Given the description of an element on the screen output the (x, y) to click on. 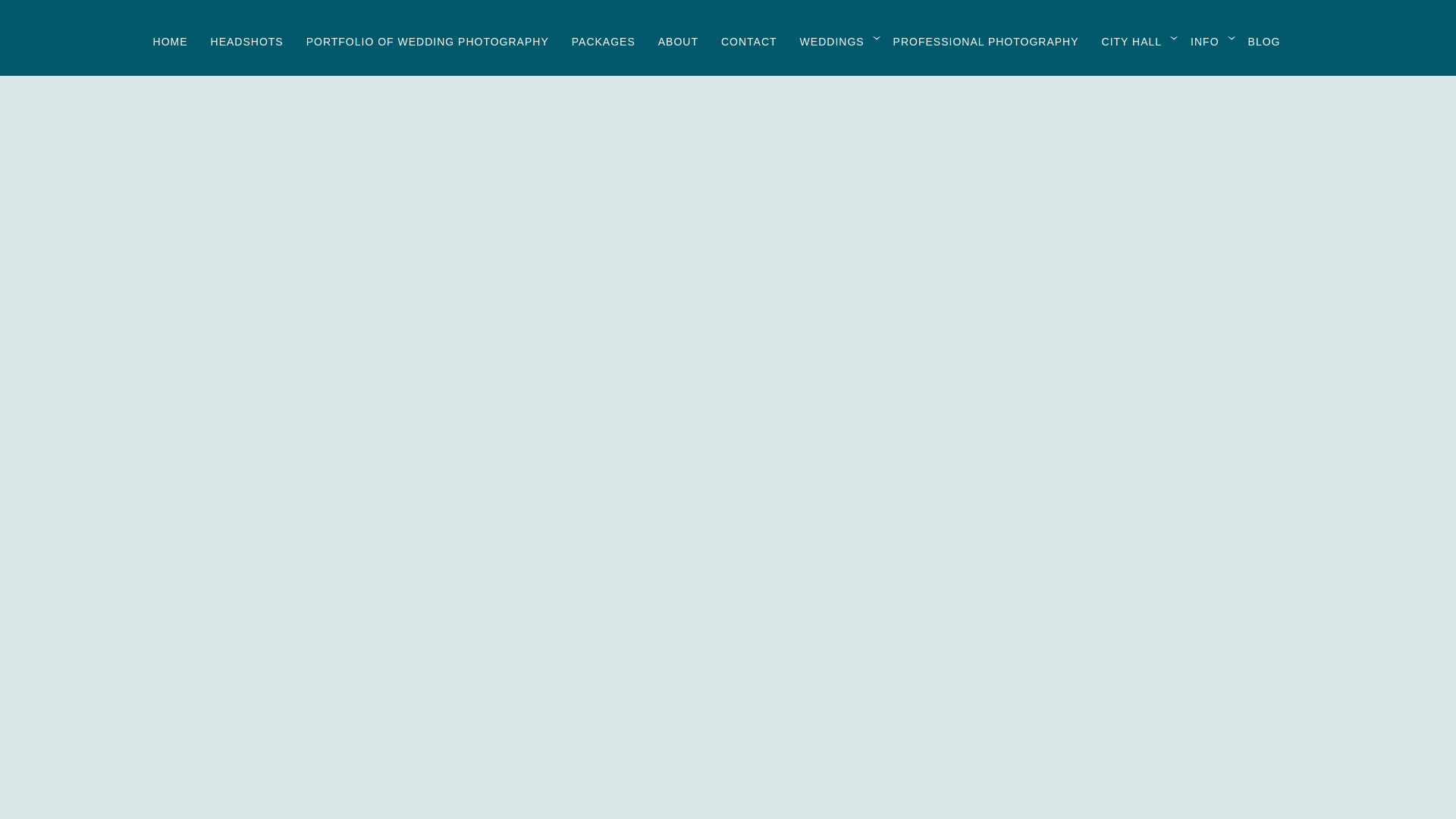
email icon (448, 675)
HOME (169, 41)
ABOUT (678, 41)
WEDDINGS (831, 41)
PORTFOLIO OF WEDDING PHOTOGRAPHY (426, 41)
HEADSHOTS (247, 41)
INFO (1204, 41)
CITY HALL (1131, 41)
PROFESSIONAL PHOTOGRAPHY (985, 41)
PACKAGES (603, 41)
